Given the description of an element on the screen output the (x, y) to click on. 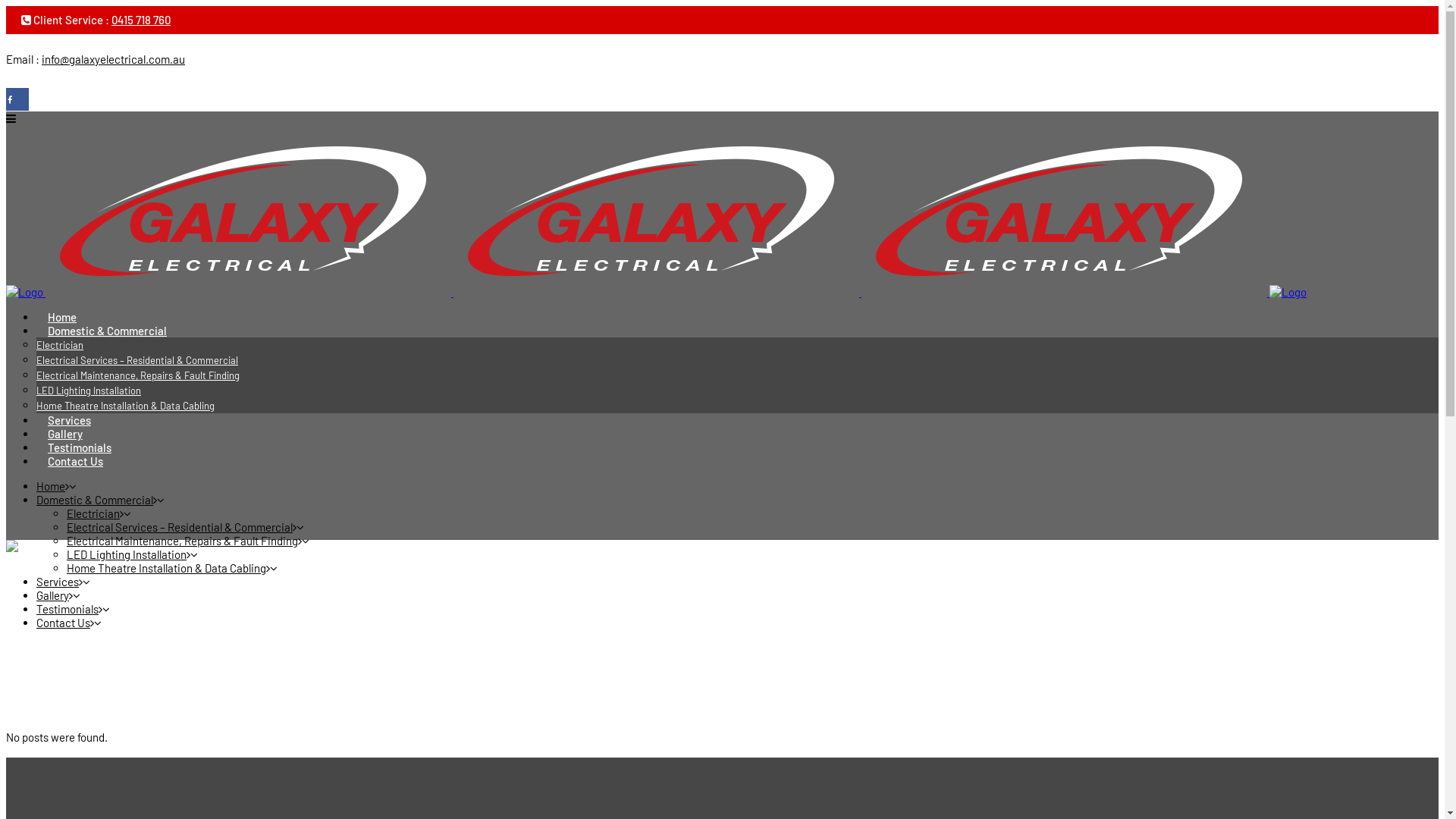
LED Lighting Installation Element type: text (88, 390)
info@galaxyelectrical.com.au Element type: text (113, 58)
LED Lighting Installation Element type: text (126, 554)
Gallery Element type: text (52, 595)
Contact Us Element type: text (63, 622)
Home Theatre Installation & Data Cabling Element type: text (166, 567)
Electrician Element type: text (59, 344)
Services Element type: text (69, 419)
Electrician Element type: text (92, 513)
Home Element type: text (50, 485)
Services Element type: text (57, 581)
Gallery Element type: text (65, 433)
Contact Us Element type: text (75, 460)
Domestic & Commercial Element type: text (94, 499)
Home Element type: text (61, 316)
Testimonials Element type: text (67, 608)
Testimonials Element type: text (79, 447)
Domestic & Commercial Element type: text (107, 330)
Home Theatre Installation & Data Cabling Element type: text (125, 405)
Electrical Maintenance, Repairs & Fault Finding Element type: text (182, 540)
Electrical Maintenance, Repairs & Fault Finding Element type: text (137, 375)
0415 718 760 Element type: text (140, 19)
